Given the description of an element on the screen output the (x, y) to click on. 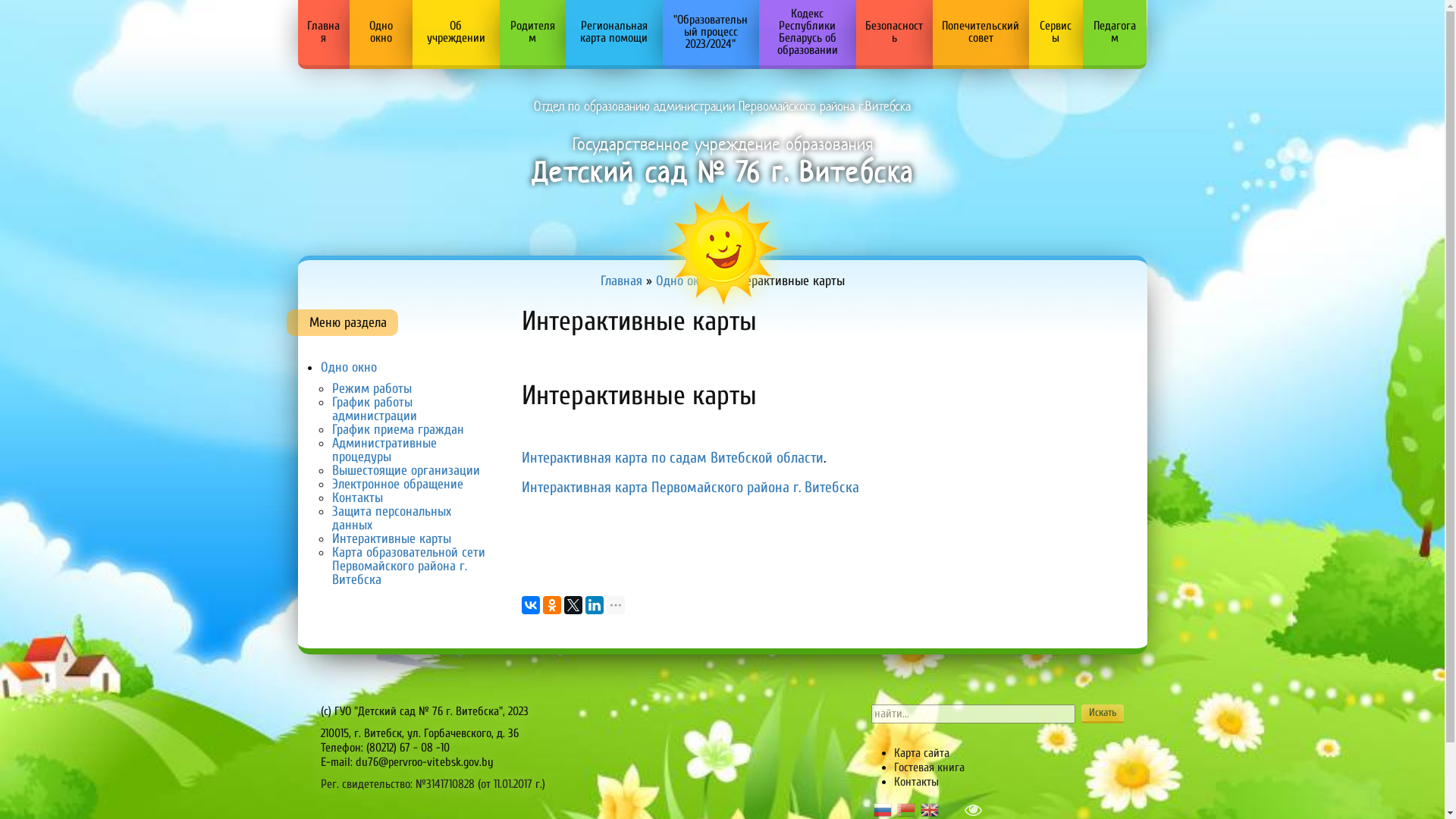
LinkedIn Element type: hover (594, 605)
Twitter Element type: hover (573, 605)
